Given the description of an element on the screen output the (x, y) to click on. 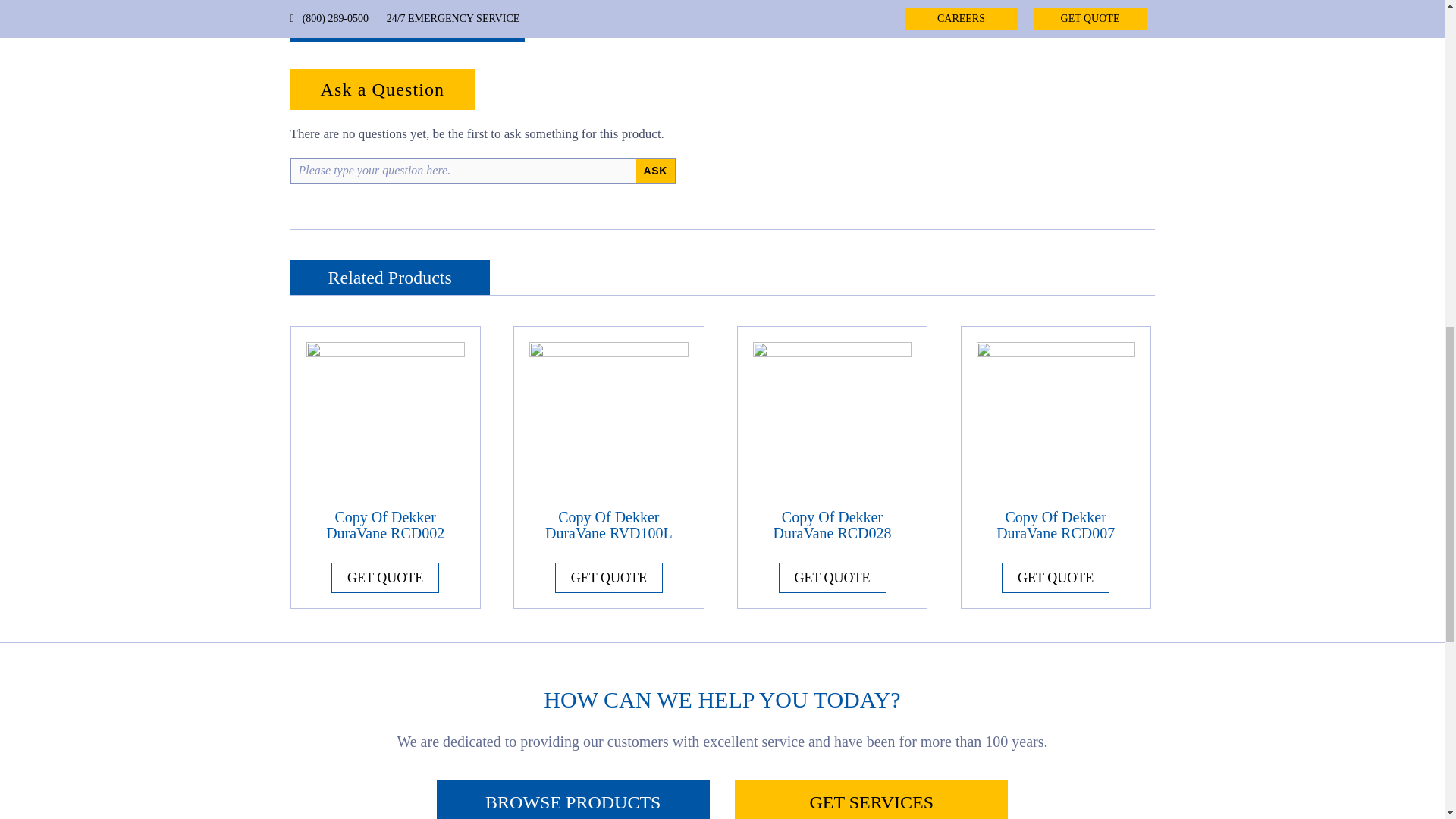
GET QUOTE (608, 577)
Ask (654, 170)
GET QUOTE (385, 577)
Ask a Question (381, 88)
Ask (654, 170)
Ask your question (654, 170)
